Given the description of an element on the screen output the (x, y) to click on. 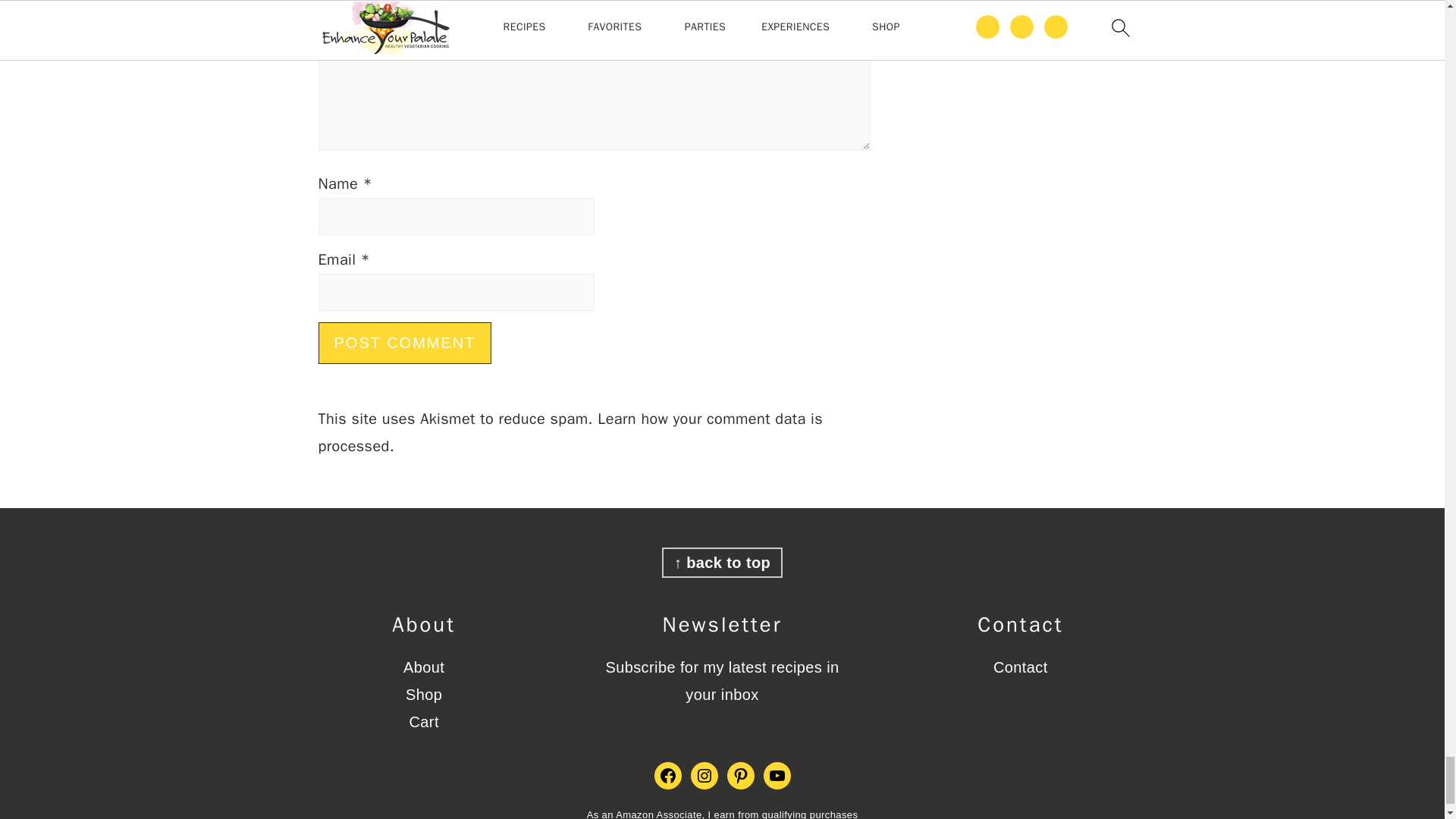
Post Comment (405, 342)
